Given the description of an element on the screen output the (x, y) to click on. 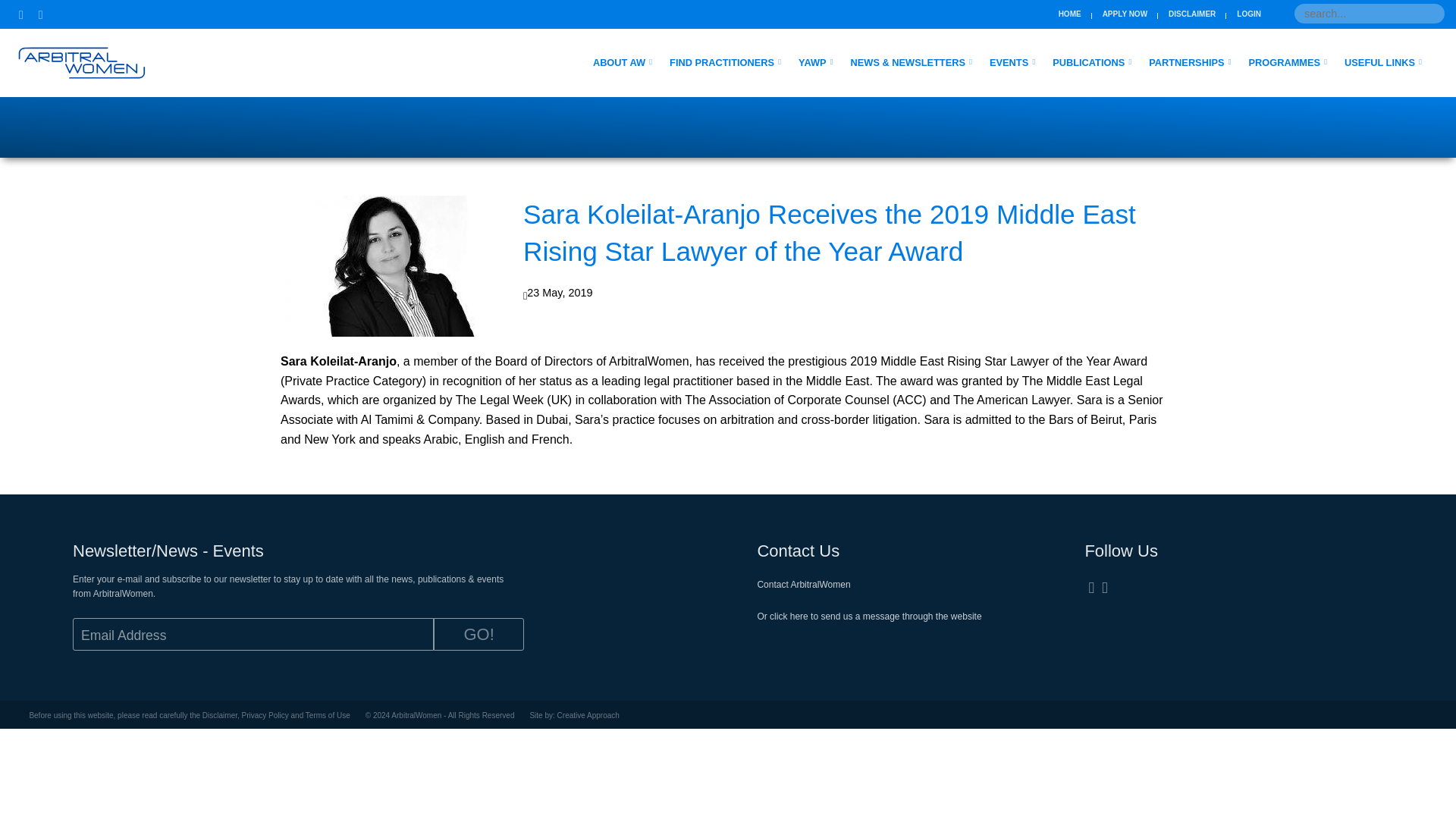
Home (1069, 15)
Disclaimer (1192, 15)
Apply Now (1124, 15)
Go! (478, 634)
Login (1248, 15)
